Given the description of an element on the screen output the (x, y) to click on. 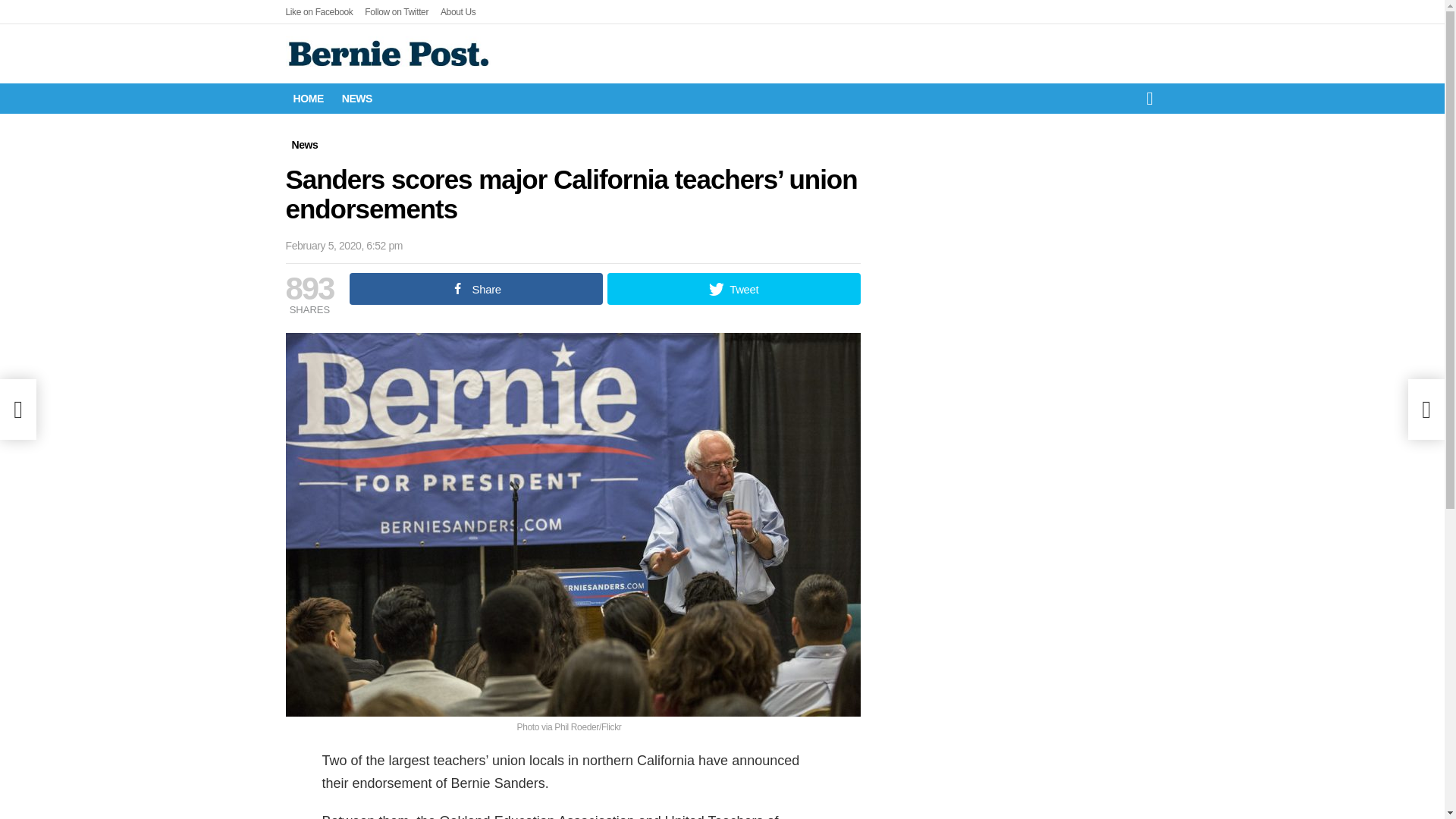
About Us (458, 12)
HOME (307, 97)
Share (475, 288)
Tweet (733, 288)
Like on Facebook (318, 12)
Follow on Twitter (396, 12)
NEWS (357, 97)
News (304, 144)
